Given the description of an element on the screen output the (x, y) to click on. 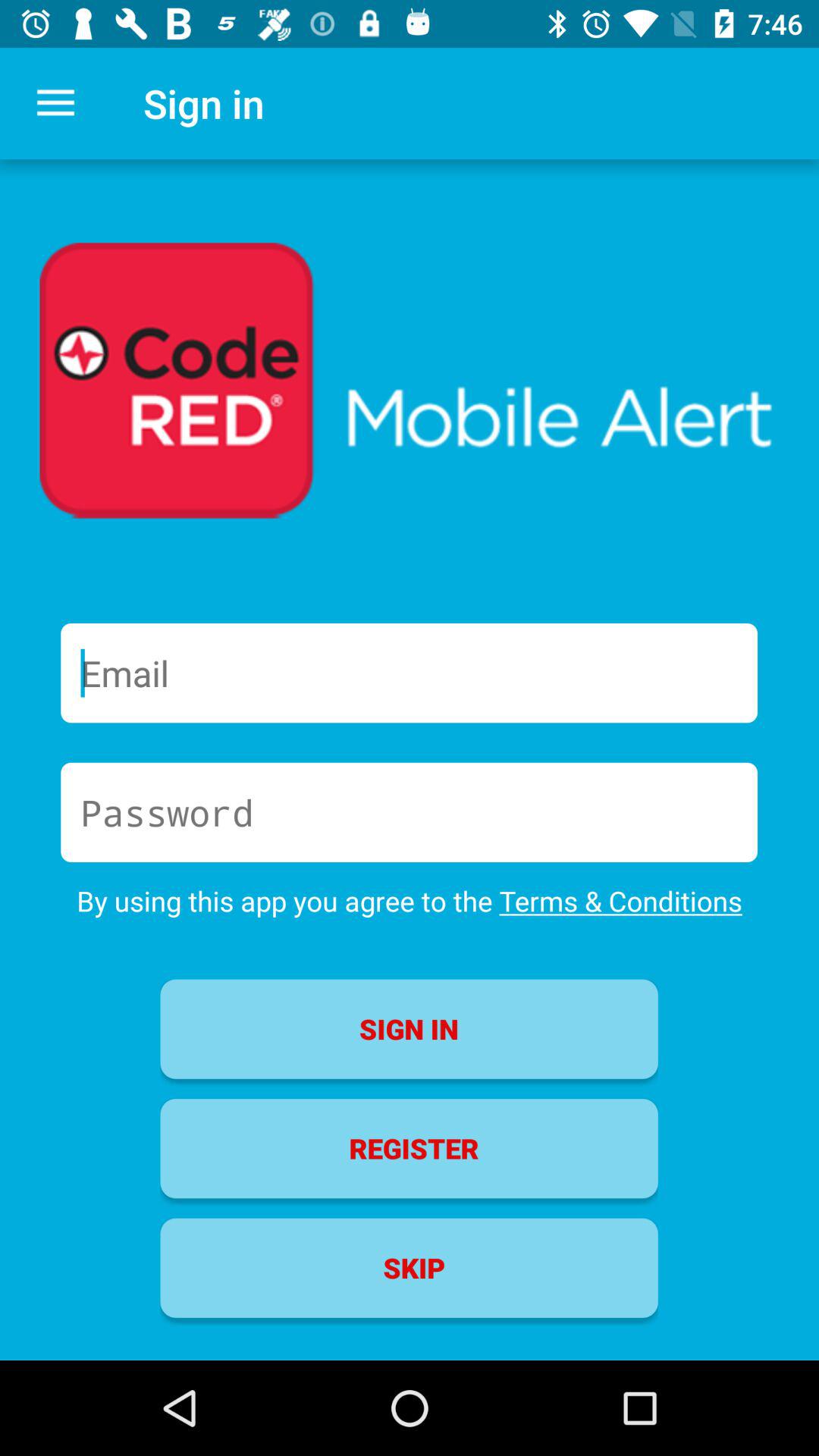
open icon below sign in icon (409, 1148)
